Given the description of an element on the screen output the (x, y) to click on. 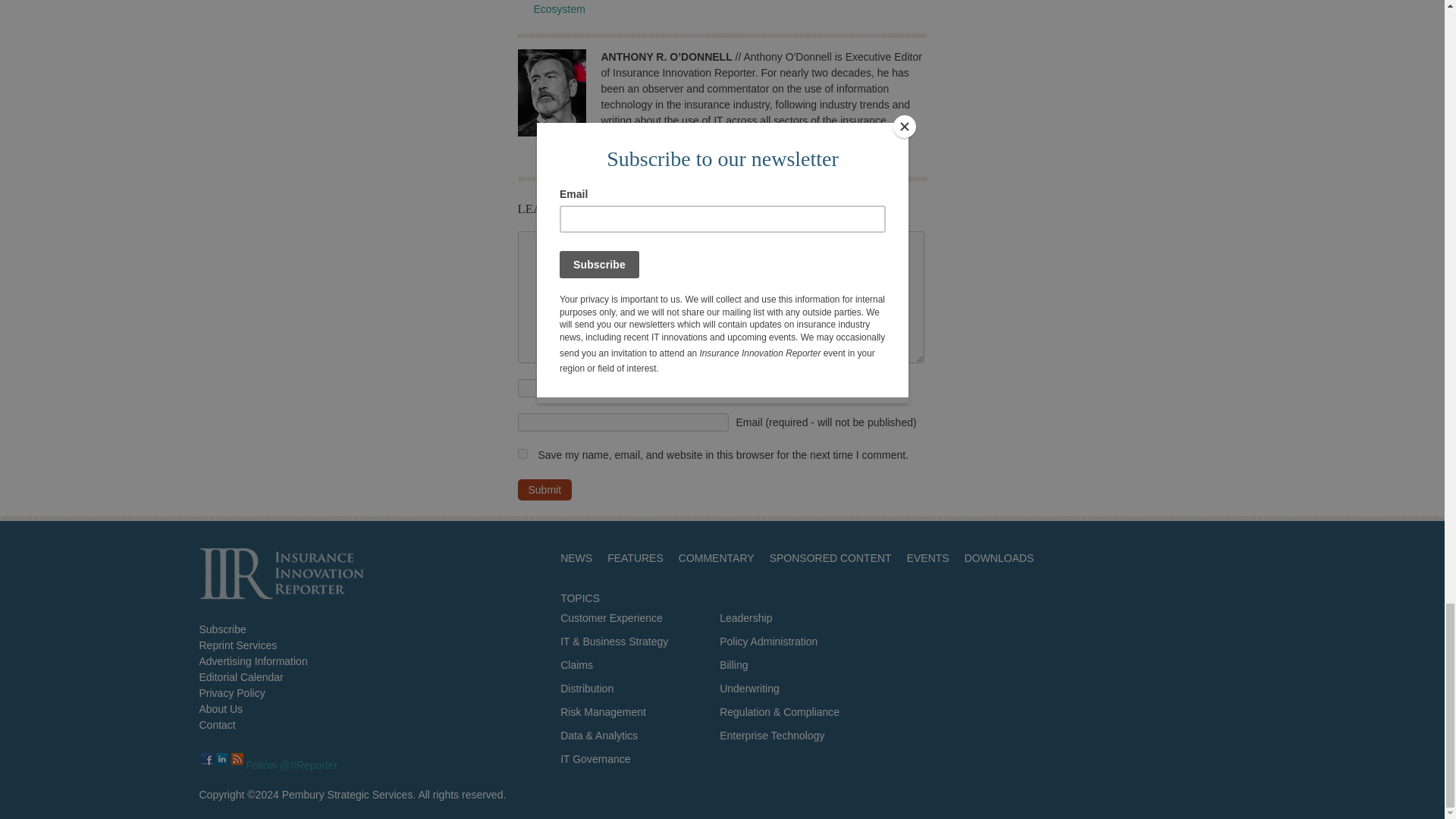
Follow my company on LinkedIn (221, 758)
Subscribe (222, 629)
Privacy Policy (231, 693)
Reprint Services (237, 645)
Submit (544, 489)
Editorial Calendar (240, 676)
yes (521, 453)
Submit (544, 489)
Advertising Information (252, 661)
Friend me on Facebook (206, 758)
RSS Feed (236, 758)
